Given the description of an element on the screen output the (x, y) to click on. 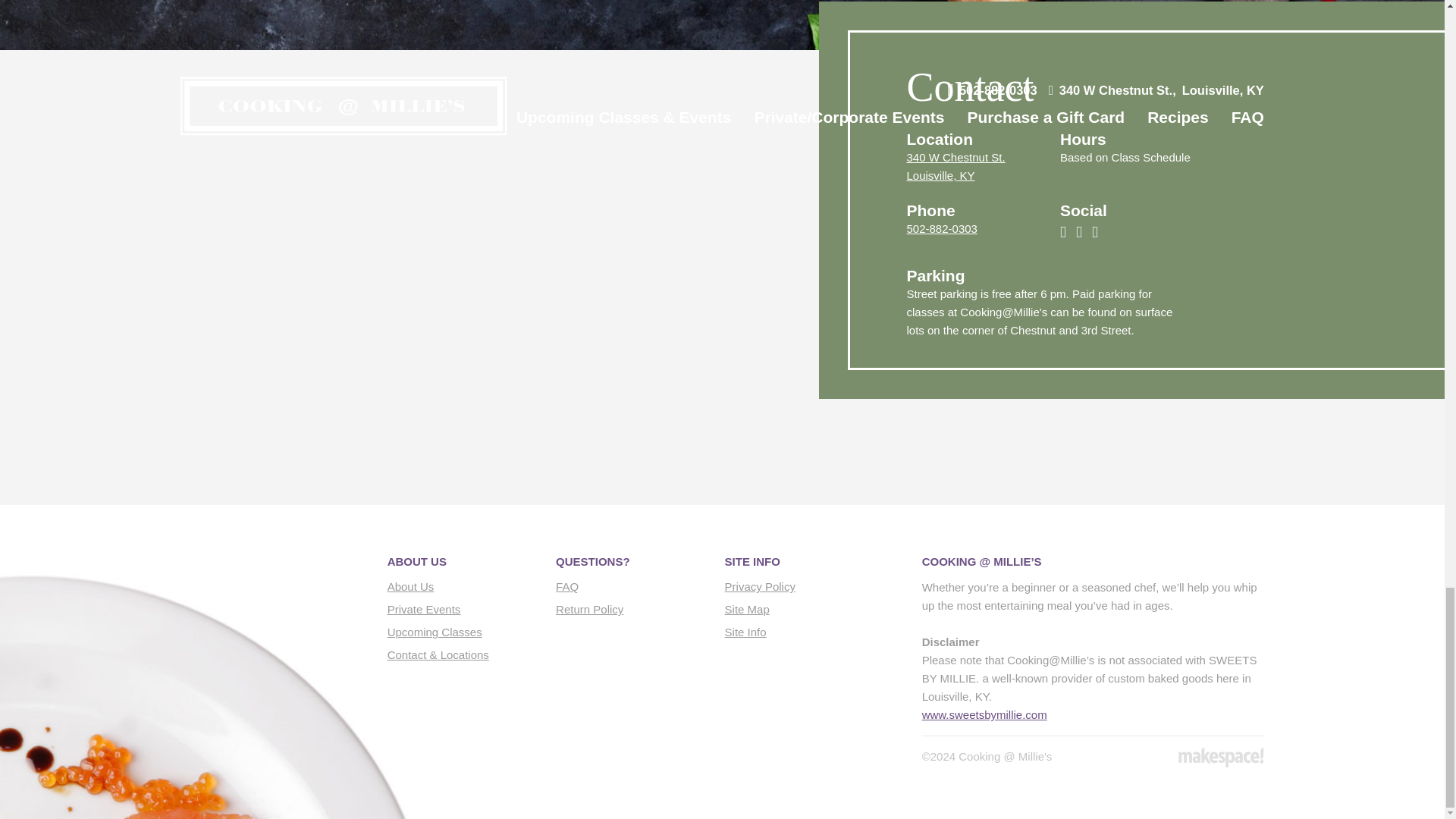
Private Events (956, 165)
502-882-0303 (424, 608)
Privacy Policy (941, 228)
Site Info (759, 585)
About Us (746, 631)
Louisville Web Design (410, 585)
Site Map (1220, 757)
Return Policy (747, 608)
www.sweetsbymillie.com (589, 608)
Upcoming Classes (983, 714)
FAQ (434, 631)
